Given the description of an element on the screen output the (x, y) to click on. 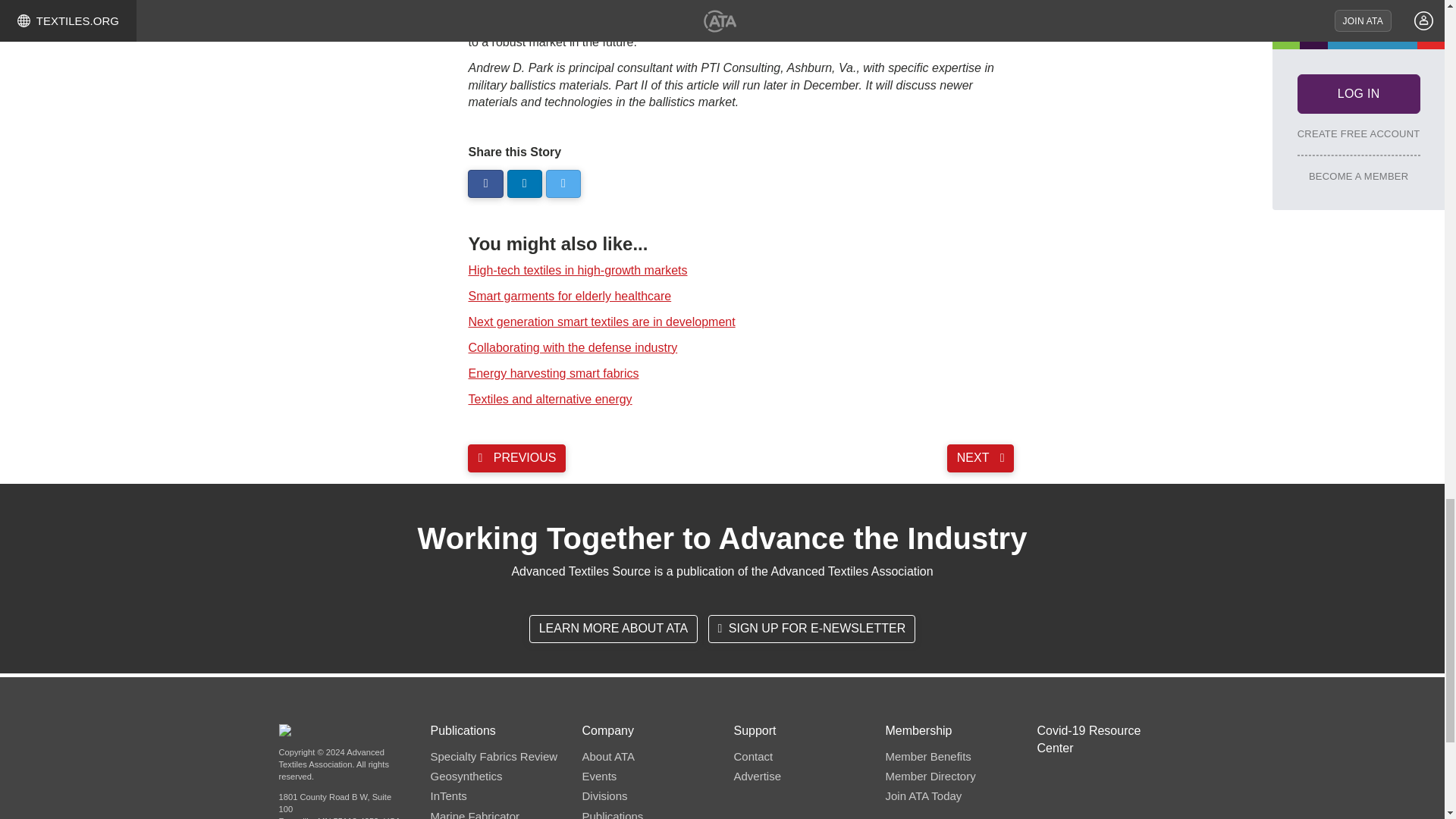
Follow us on Twitter (563, 183)
Follow us on LinkedIn (523, 183)
Share on Facebook (485, 183)
